Given the description of an element on the screen output the (x, y) to click on. 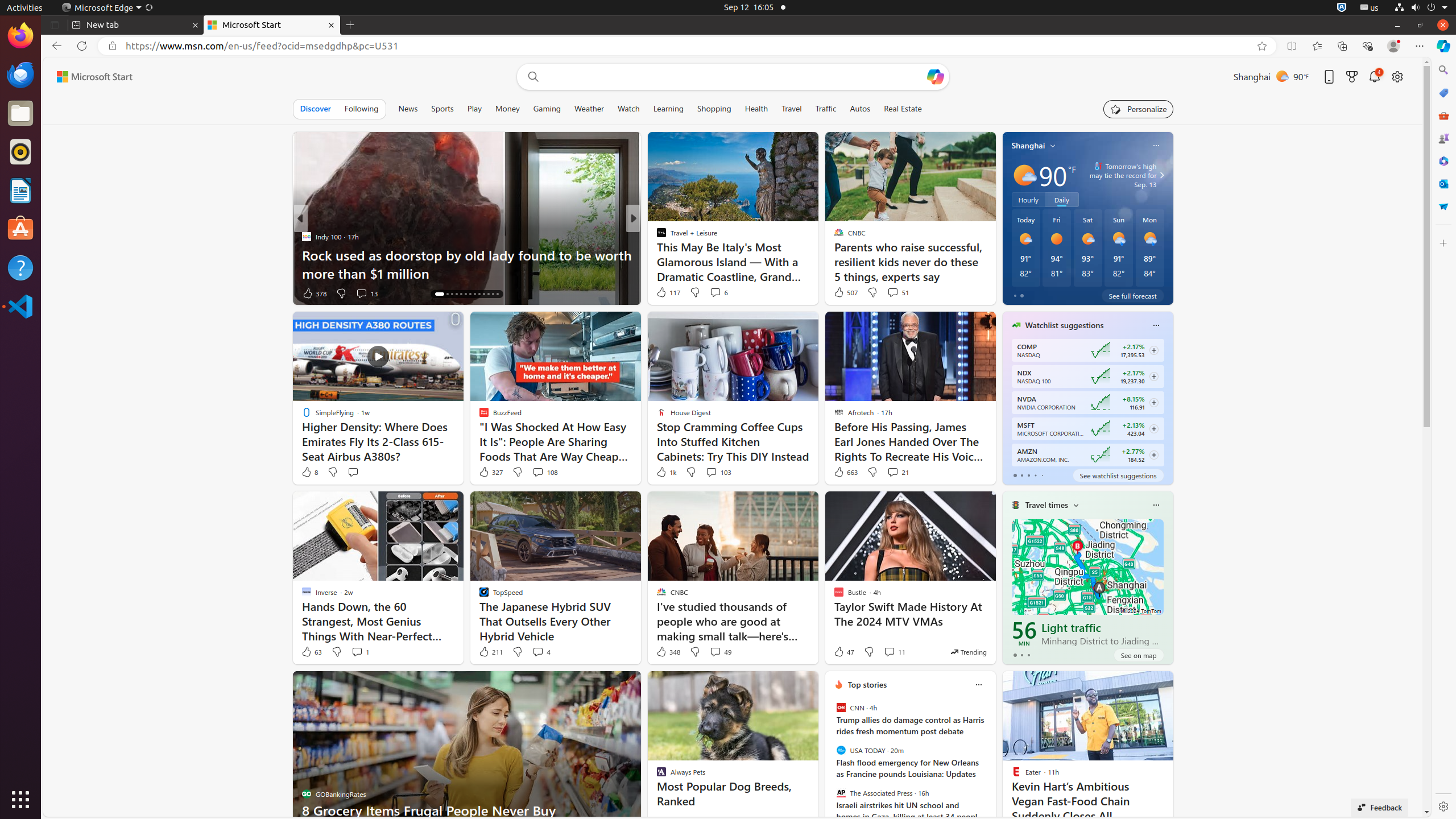
Rock used as doorstop by old lady found to be worth more than $1 million Element type: link (466, 263)
117 Like Element type: toggle-button (667, 292)
Dislike Element type: toggle-button (868, 651)
System Element type: menu (1420, 7)
View comments 13 Comment Element type: link (366, 292)
